Given the description of an element on the screen output the (x, y) to click on. 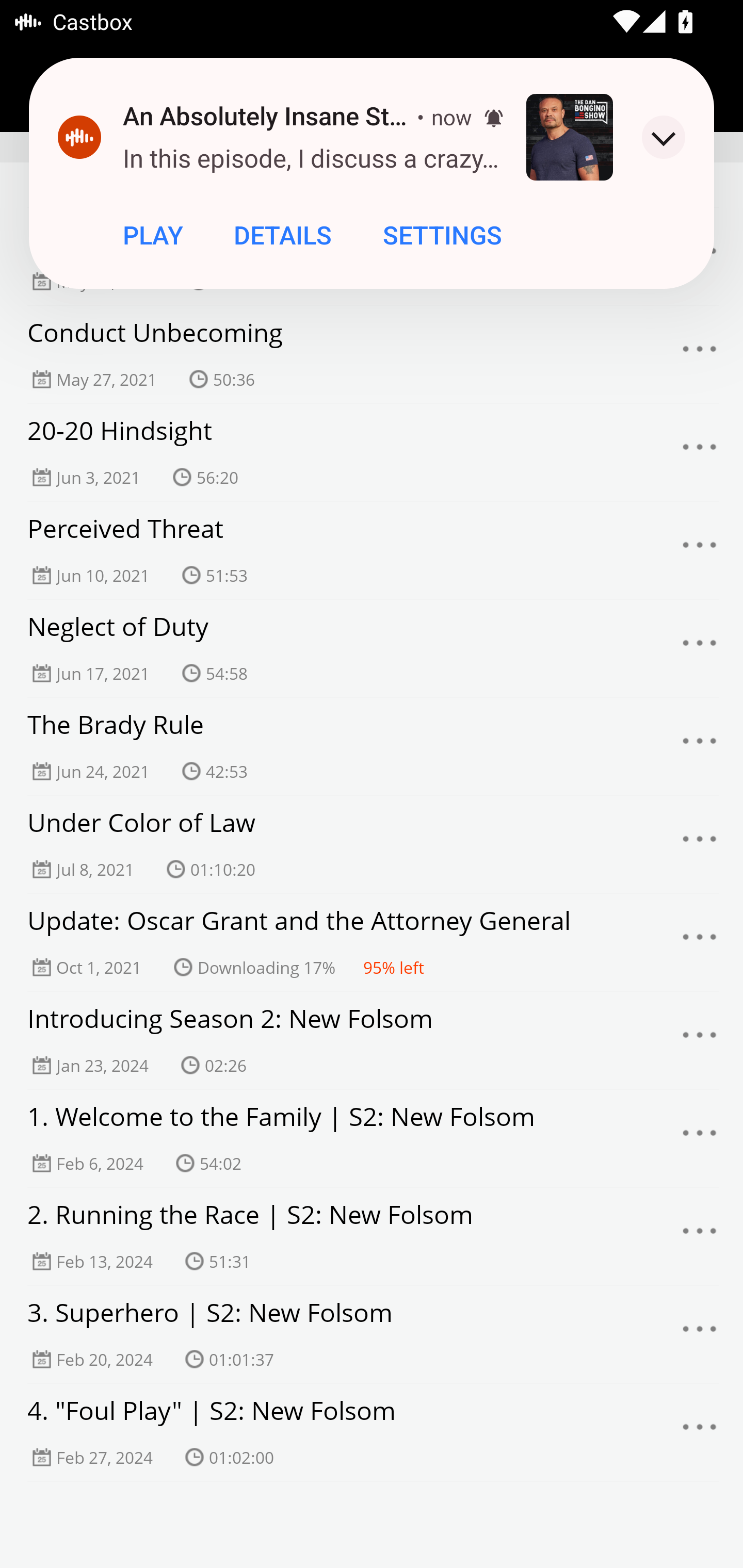
Conduct Unbecoming May 27, 2021 50:36 Menu (371, 353)
Menu (699, 354)
20-20 Hindsight Jun 3, 2021 56:20 Menu (371, 451)
Menu (699, 452)
Perceived Threat Jun 10, 2021 51:53 Menu (371, 549)
Menu (699, 550)
Neglect of Duty Jun 17, 2021 54:58 Menu (371, 647)
Menu (699, 648)
The Brady Rule Jun 24, 2021 42:53 Menu (371, 745)
Menu (699, 746)
Under Color of Law Jul 8, 2021 01:10:20 Menu (371, 843)
Menu (699, 844)
Menu (699, 942)
Menu (699, 1040)
Menu (699, 1138)
Menu (699, 1236)
Menu (699, 1334)
Menu (699, 1432)
